Given the description of an element on the screen output the (x, y) to click on. 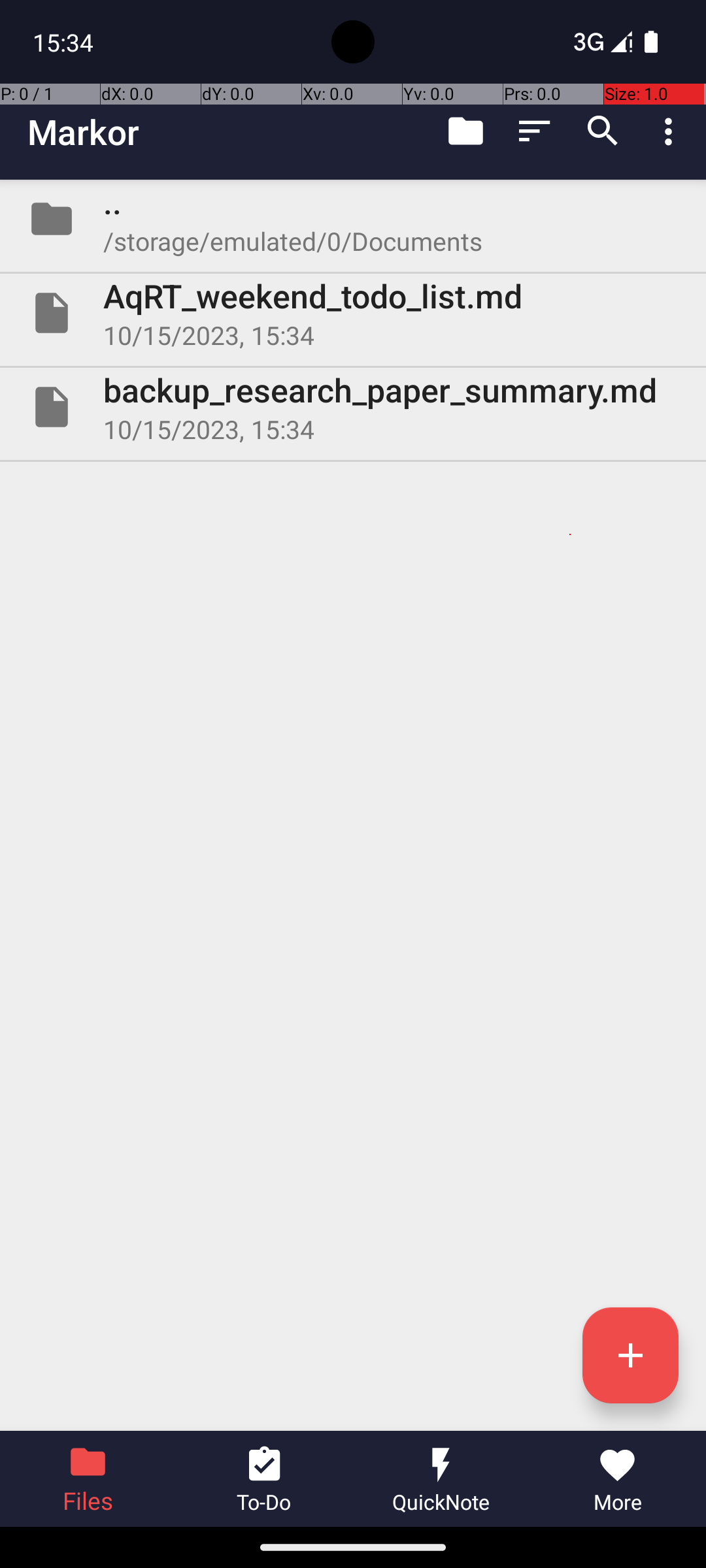
File AqRT_weekend_todo_list.md  Element type: android.widget.LinearLayout (353, 312)
File backup_research_paper_summary.md  Element type: android.widget.LinearLayout (353, 406)
